Given the description of an element on the screen output the (x, y) to click on. 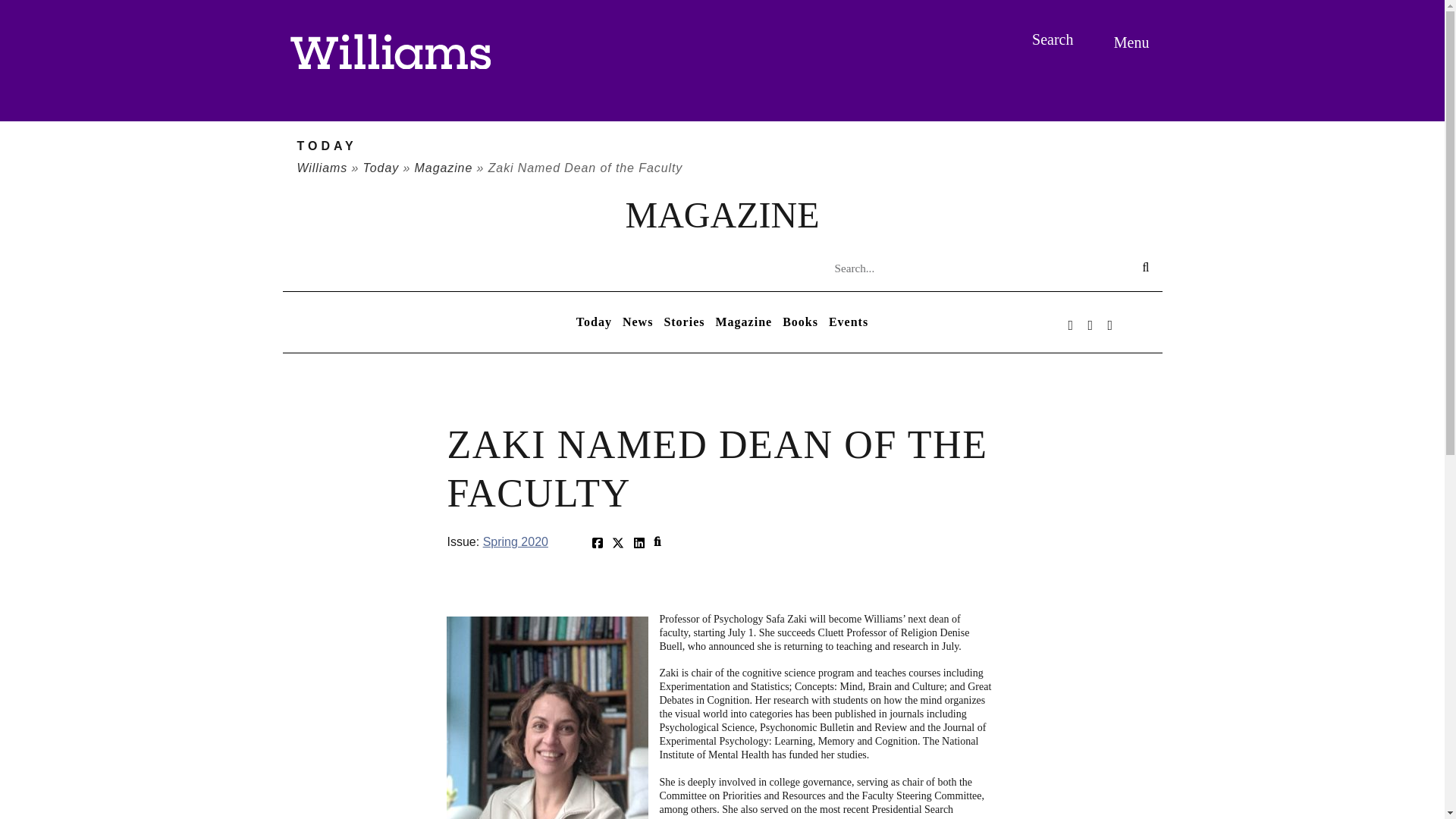
Search (1054, 38)
Go to Williams College Home (389, 51)
Menu (1134, 41)
Go (13, 12)
